Given the description of an element on the screen output the (x, y) to click on. 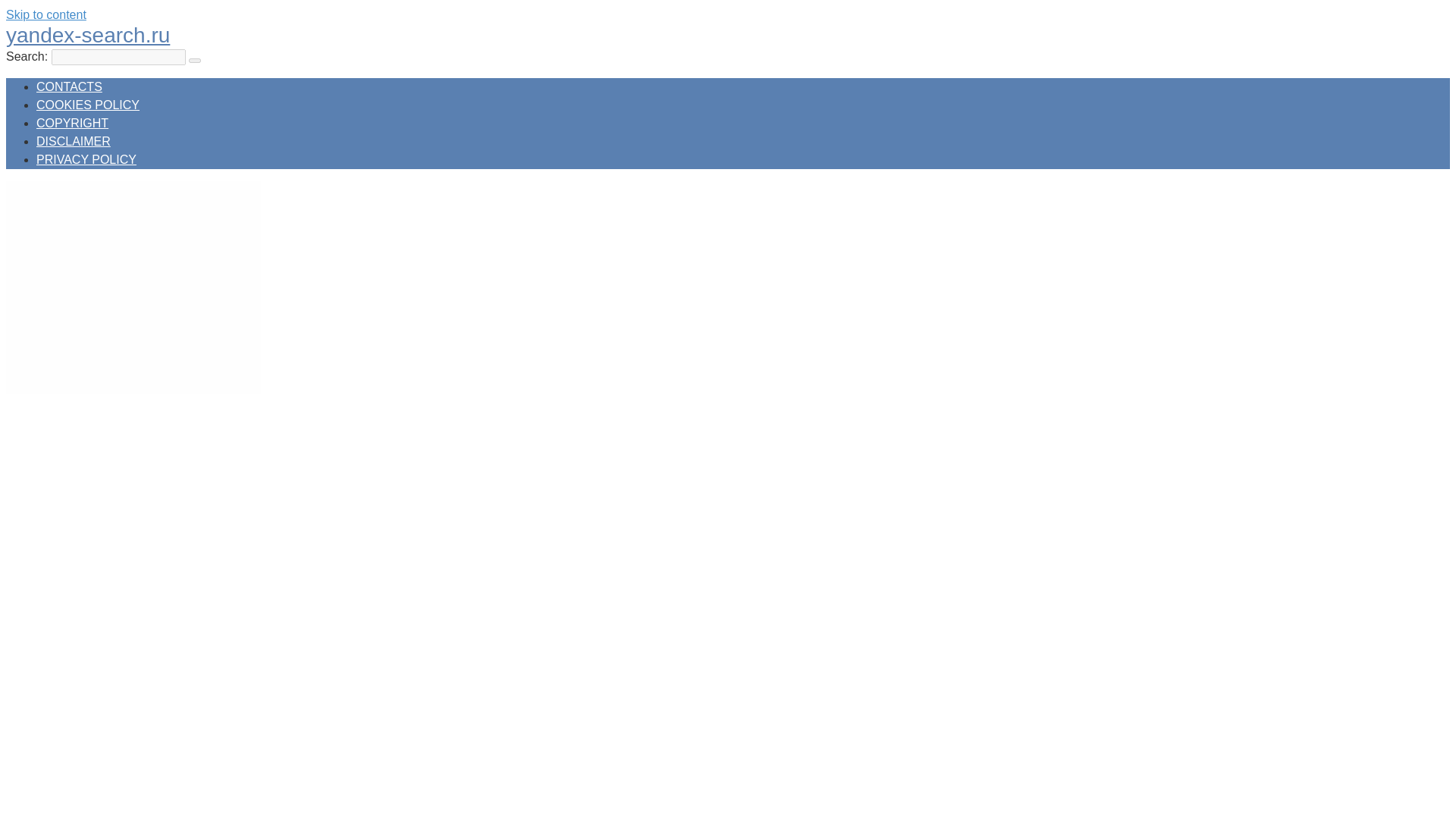
yandex-search.ru (87, 34)
Skip to content (45, 14)
DISCLAIMER (73, 141)
CONTACTS (68, 86)
PRIVACY POLICY (86, 159)
COPYRIGHT (71, 123)
COOKIES POLICY (87, 104)
